Given the description of an element on the screen output the (x, y) to click on. 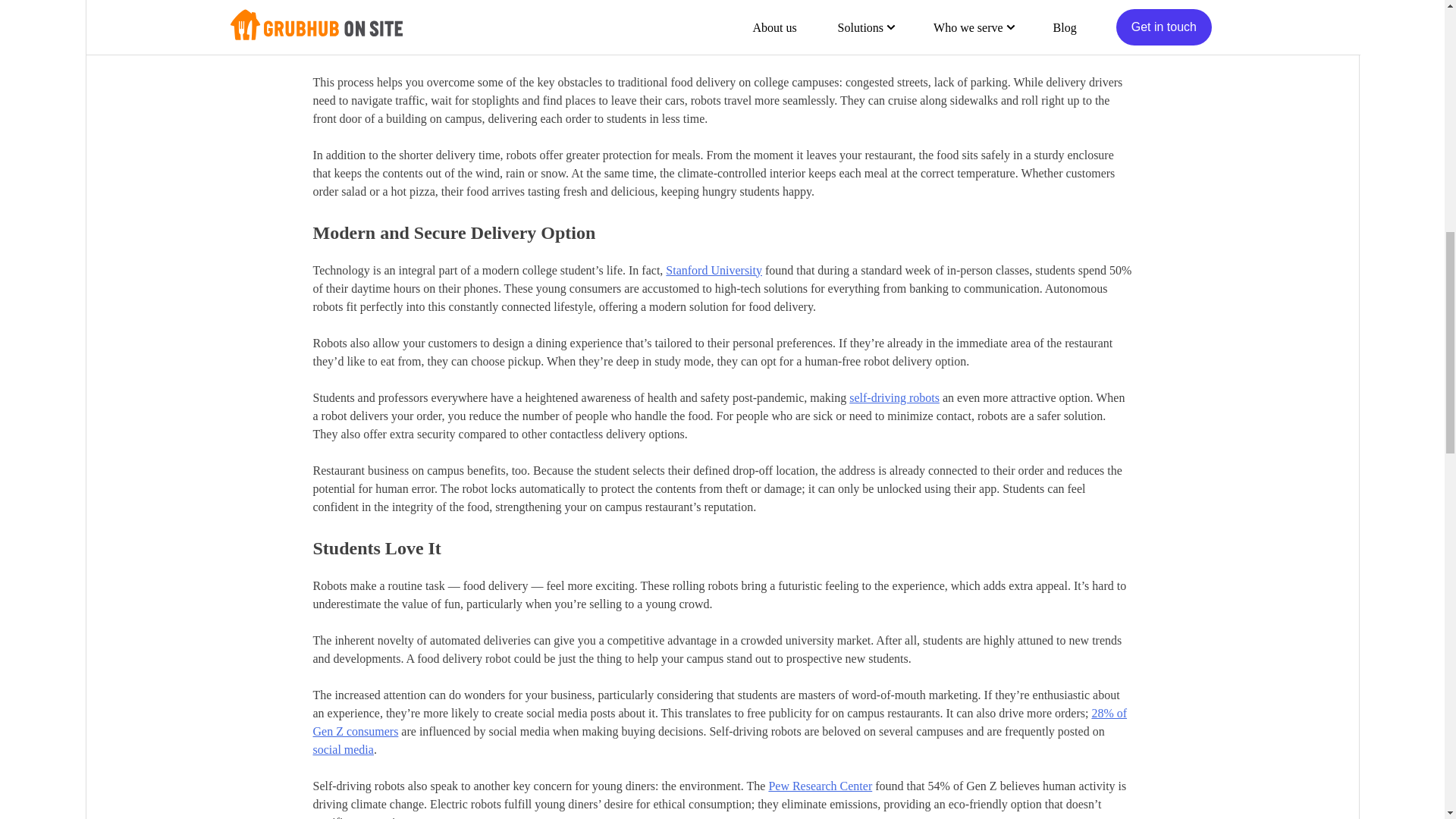
social media (342, 748)
Stanford University (713, 269)
self-driving robots (893, 397)
Pew Research Center (820, 785)
